Given the description of an element on the screen output the (x, y) to click on. 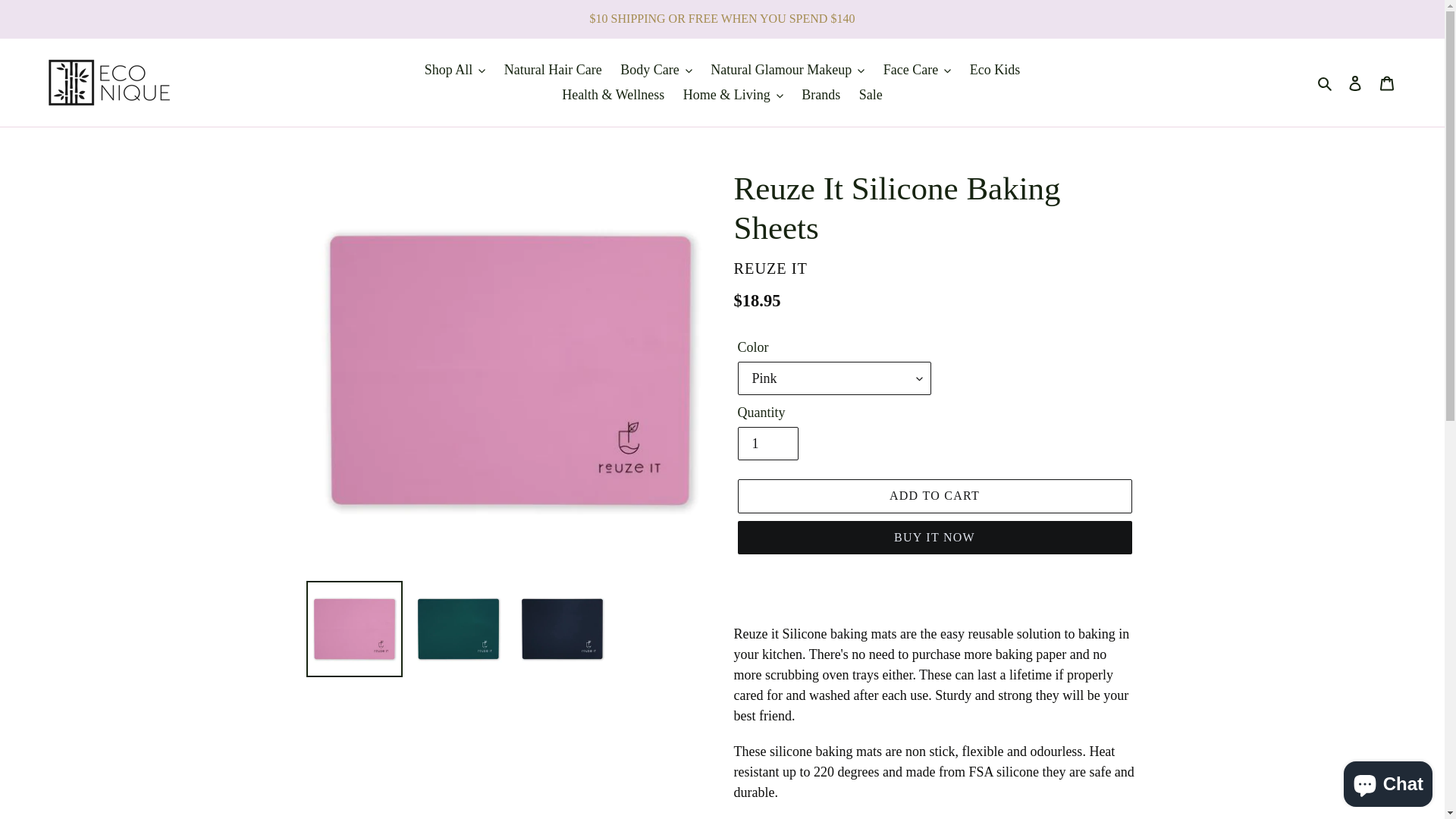
Sale Element type: text (870, 94)
Eco Kids Element type: text (995, 69)
ADD TO CART Element type: text (934, 495)
Cart Element type: text (1386, 82)
Natural Glamour Makeup Element type: text (787, 69)
Body Care Element type: text (655, 69)
Log in Element type: text (1355, 82)
Shop All Element type: text (455, 69)
Search Element type: text (1325, 82)
Natural Hair Care Element type: text (552, 69)
Brands Element type: text (820, 94)
Shopify online store chat Element type: hover (1388, 780)
BUY IT NOW Element type: text (934, 537)
Face Care Element type: text (916, 69)
Home & Living Element type: text (732, 94)
Health & Wellness Element type: text (612, 94)
